Given the description of an element on the screen output the (x, y) to click on. 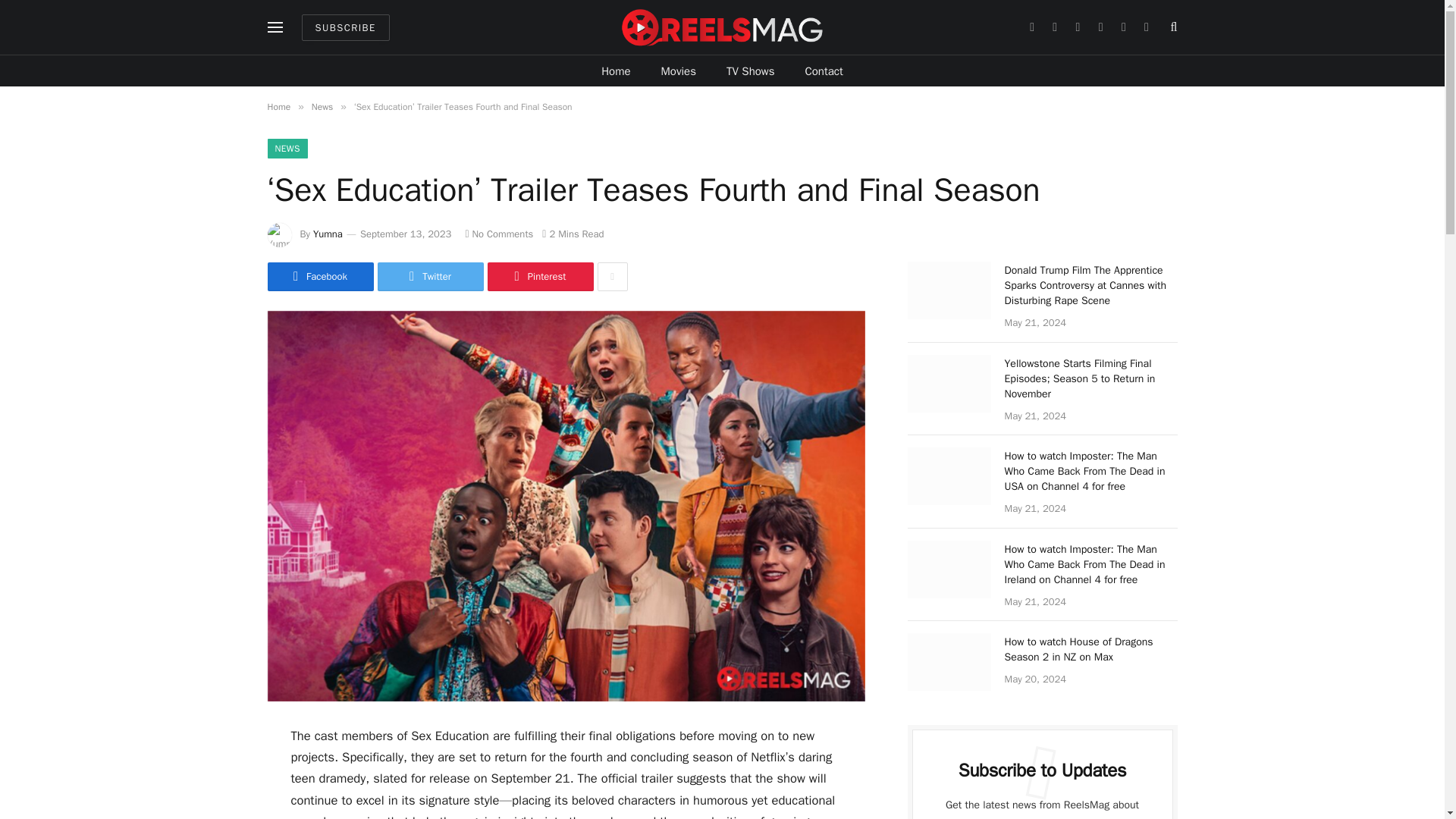
TV Shows (750, 70)
Posts by Yumna (327, 233)
Share on Facebook (319, 276)
Yumna (327, 233)
Twitter (430, 276)
Contact (824, 70)
News (322, 106)
Home (615, 70)
NEWS (286, 148)
Movies (678, 70)
